Given the description of an element on the screen output the (x, y) to click on. 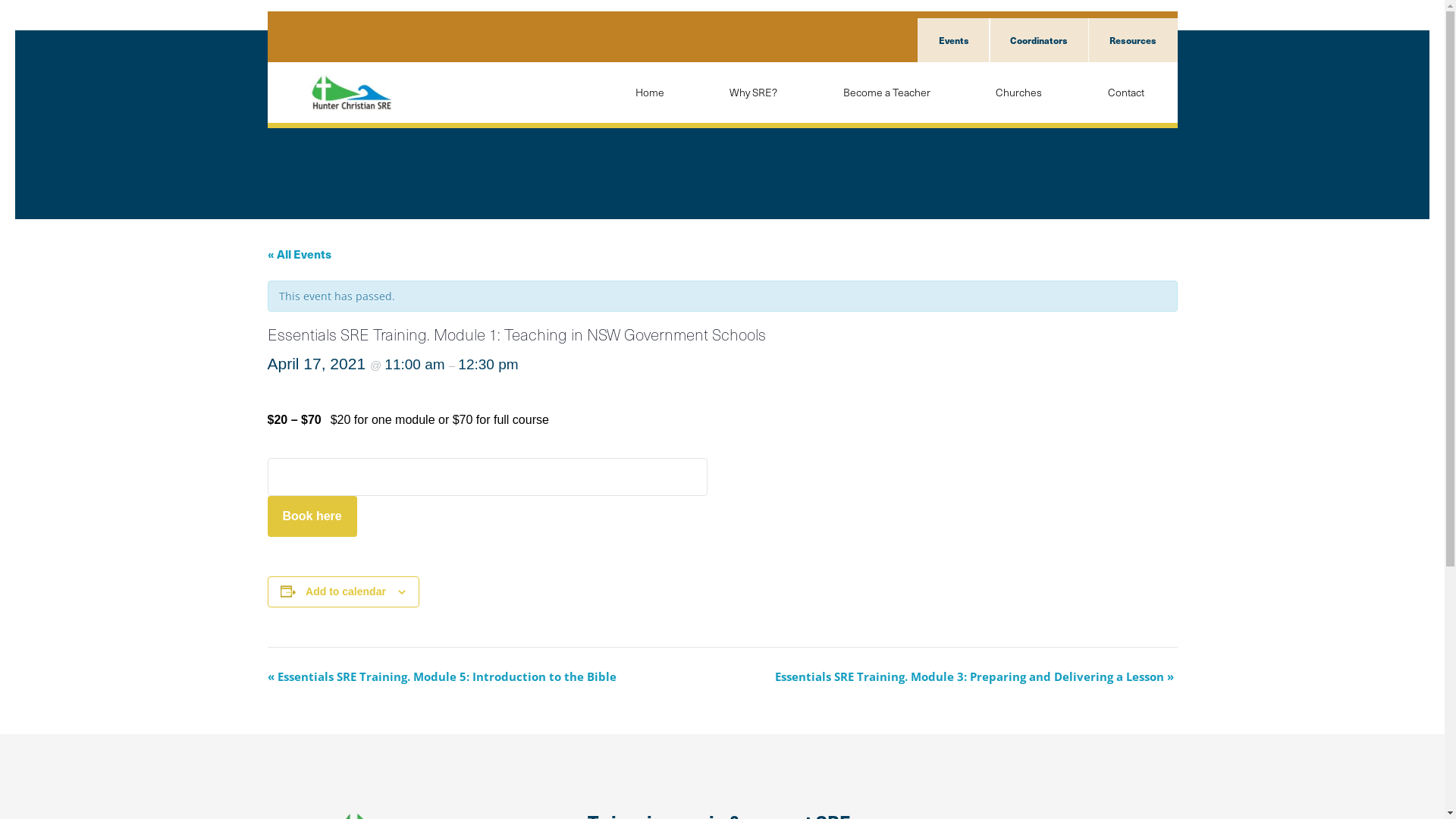
Why SRE? Element type: text (753, 92)
Contact Element type: text (1124, 92)
Events Element type: text (953, 40)
Resources Element type: text (1131, 40)
Book here Element type: text (311, 515)
Add to calendar Element type: text (345, 591)
Churches Element type: text (1018, 92)
Coordinators Element type: text (1038, 40)
Home Element type: text (649, 92)
Become a Teacher Element type: text (886, 92)
